Given the description of an element on the screen output the (x, y) to click on. 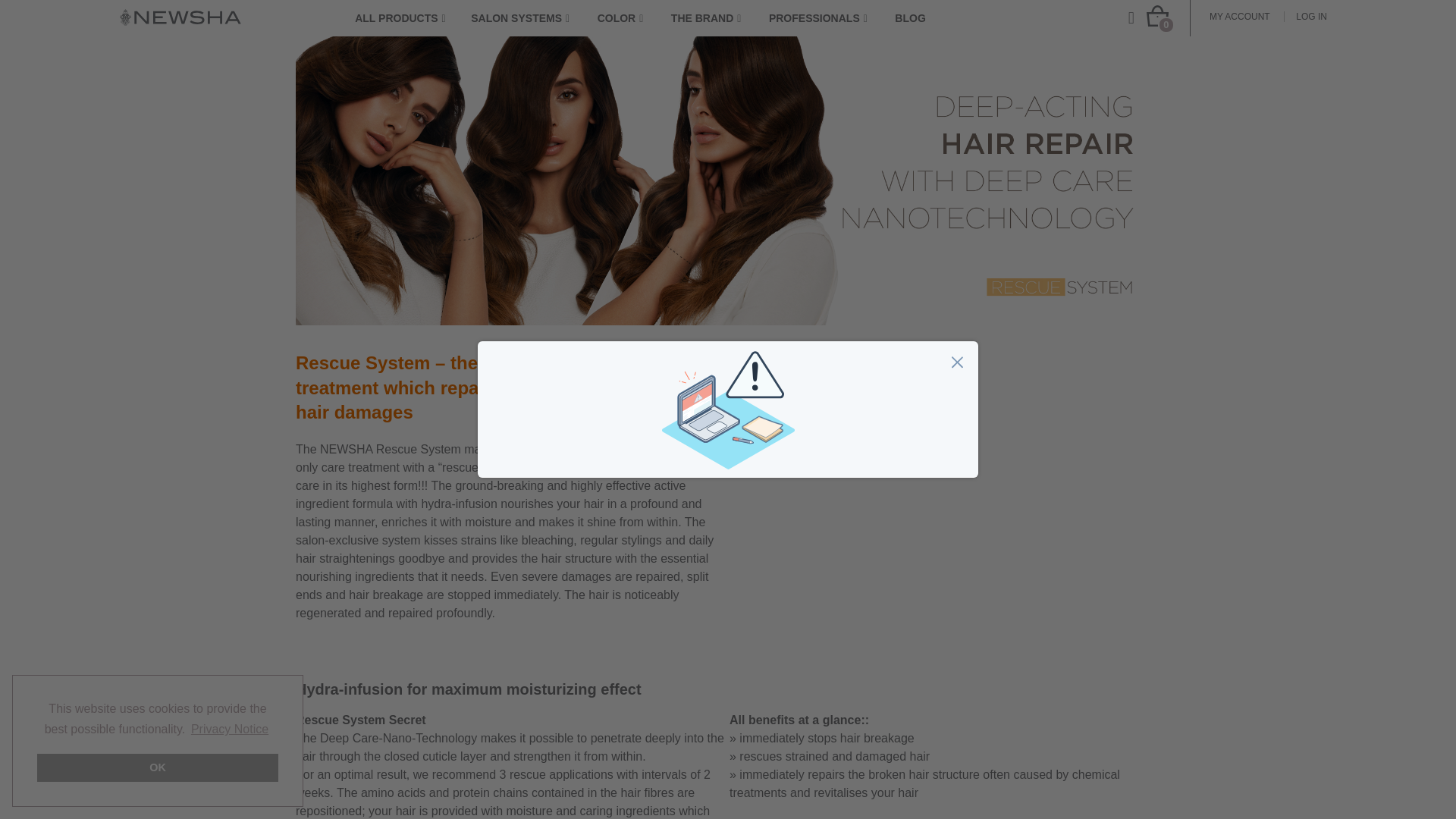
ALL PRODUCTS (407, 18)
My account (1239, 16)
COLOR (627, 18)
Popup CTA (727, 409)
BLOG (917, 18)
NEWSHA - Private Haircare (180, 17)
LOG IN (1310, 16)
SALON SYSTEMS (527, 18)
THE BRAND (713, 18)
Privacy Notice (229, 729)
0 (1157, 15)
PROFESSIONALS (825, 18)
OK (157, 767)
Log In (1310, 16)
MY ACCOUNT (1239, 16)
